Given the description of an element on the screen output the (x, y) to click on. 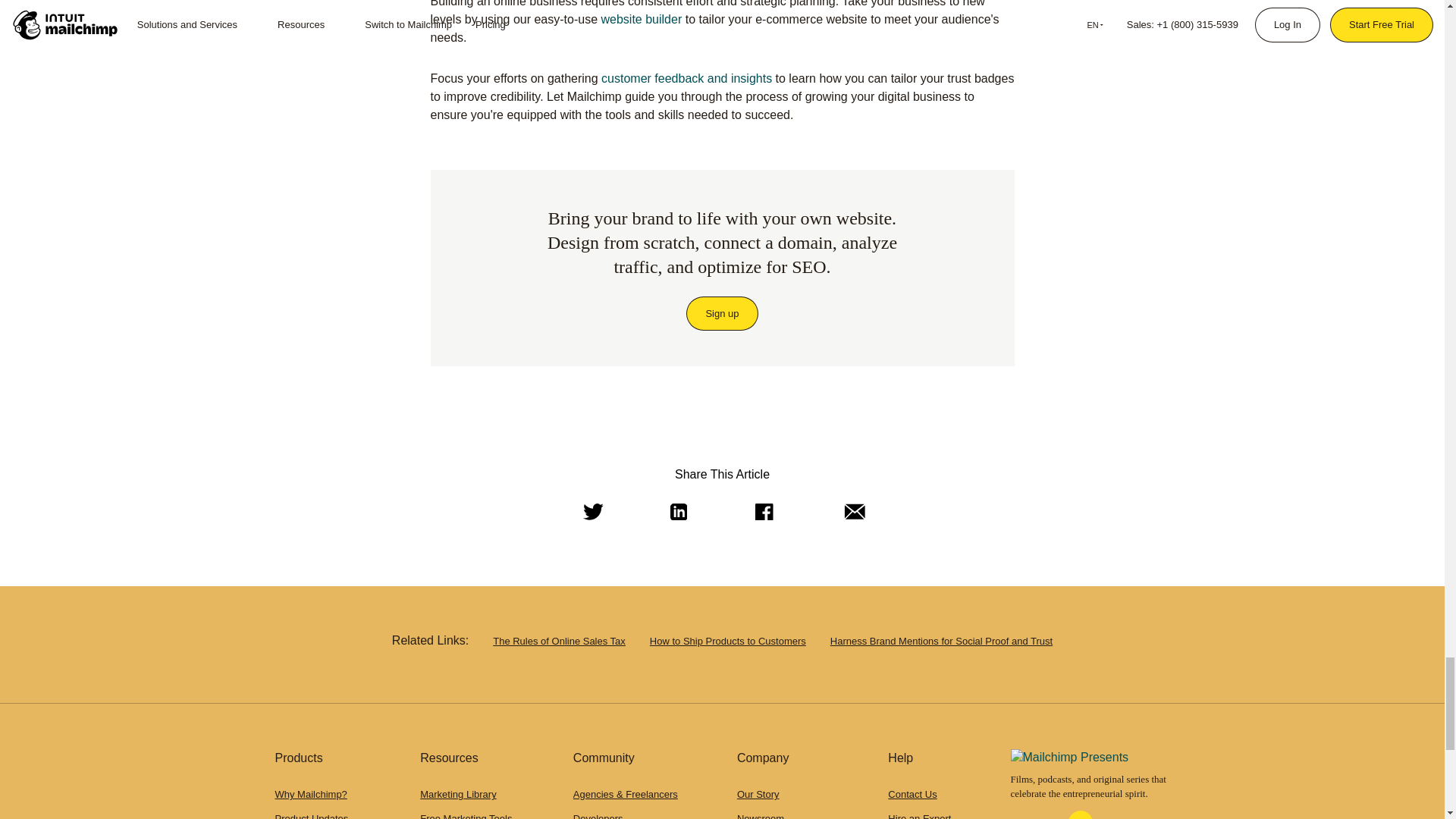
Share this article on Facebook (762, 512)
website builder (640, 19)
customer feedback and insights (686, 78)
Share this article on Twitter (590, 512)
Sign up (722, 313)
The Rules of Online Sales Tax (559, 641)
Email this article (850, 512)
